Given the description of an element on the screen output the (x, y) to click on. 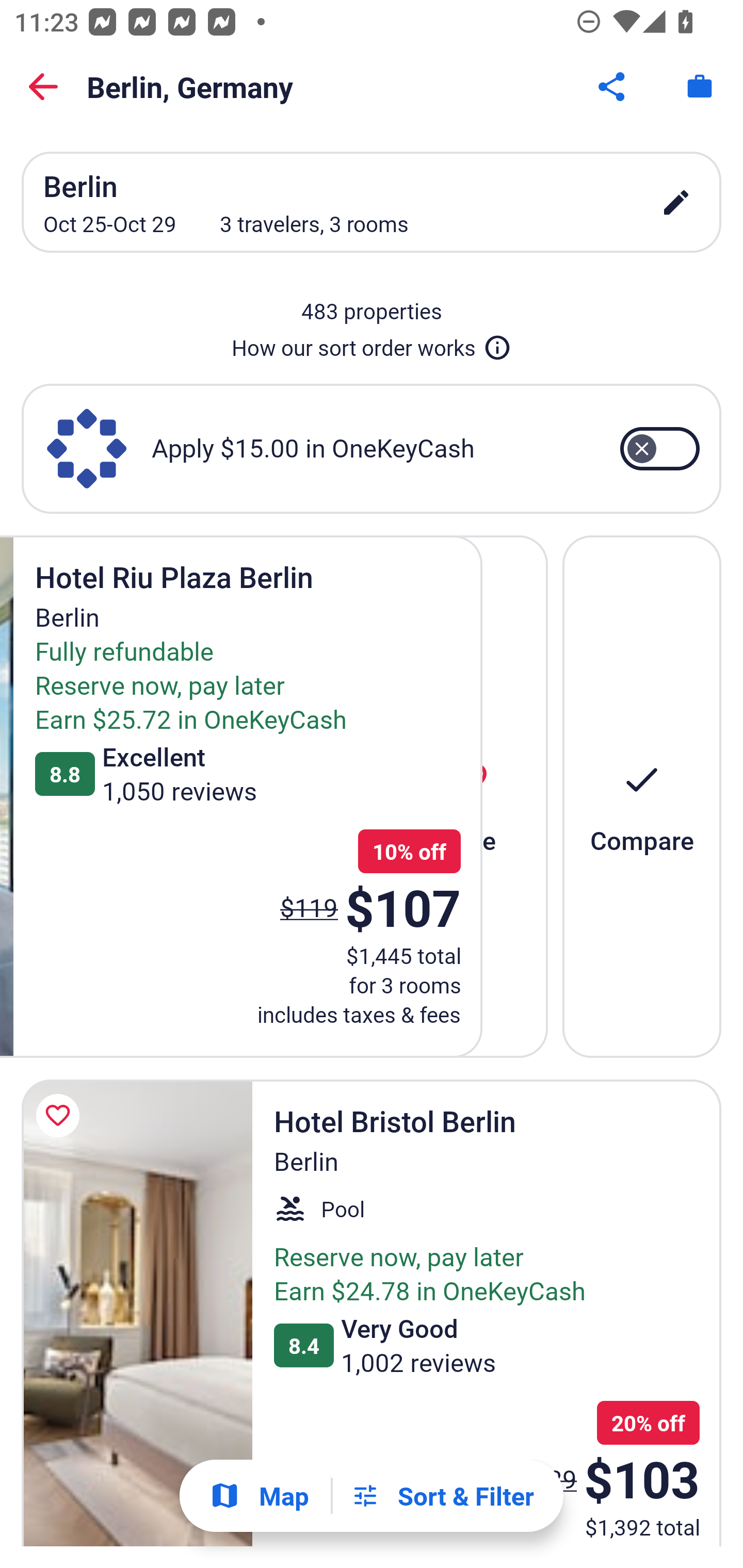
Back (43, 86)
Share Button (612, 86)
Trips. Button (699, 86)
Berlin Oct 25-Oct 29 3 travelers, 3 rooms edit (371, 202)
How our sort order works (371, 344)
Compare (641, 796)
$119 The price was $119 (308, 906)
Save Hotel Bristol Berlin to a trip (61, 1115)
Hotel Bristol Berlin (136, 1312)
Filters Sort & Filter Filters Button (442, 1495)
Show map Map Show map Button (258, 1495)
